Given the description of an element on the screen output the (x, y) to click on. 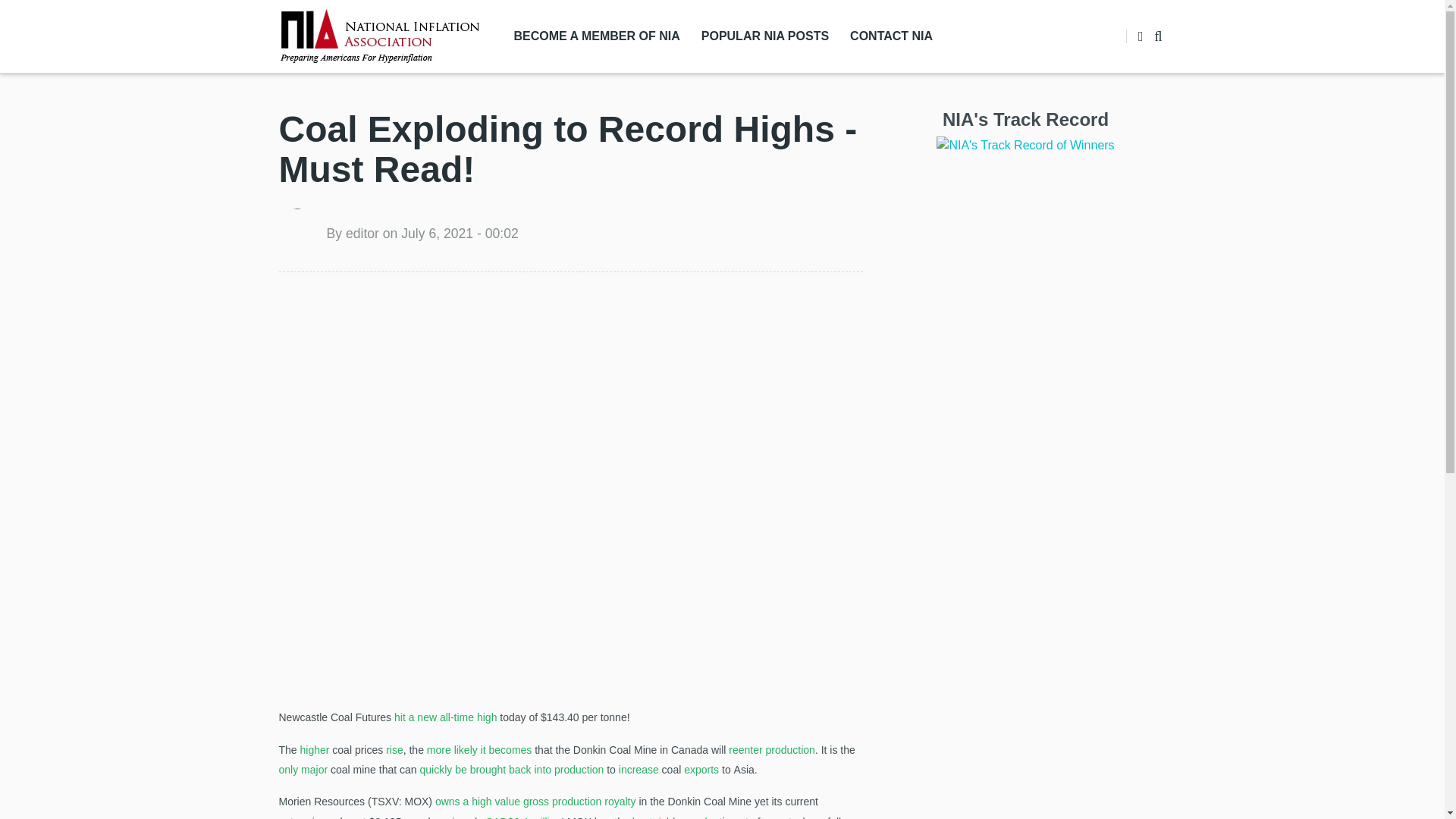
 Go (1144, 94)
Home (379, 34)
BECOME A MEMBER OF NIA (596, 36)
CONTACT NIA (891, 36)
